Given the description of an element on the screen output the (x, y) to click on. 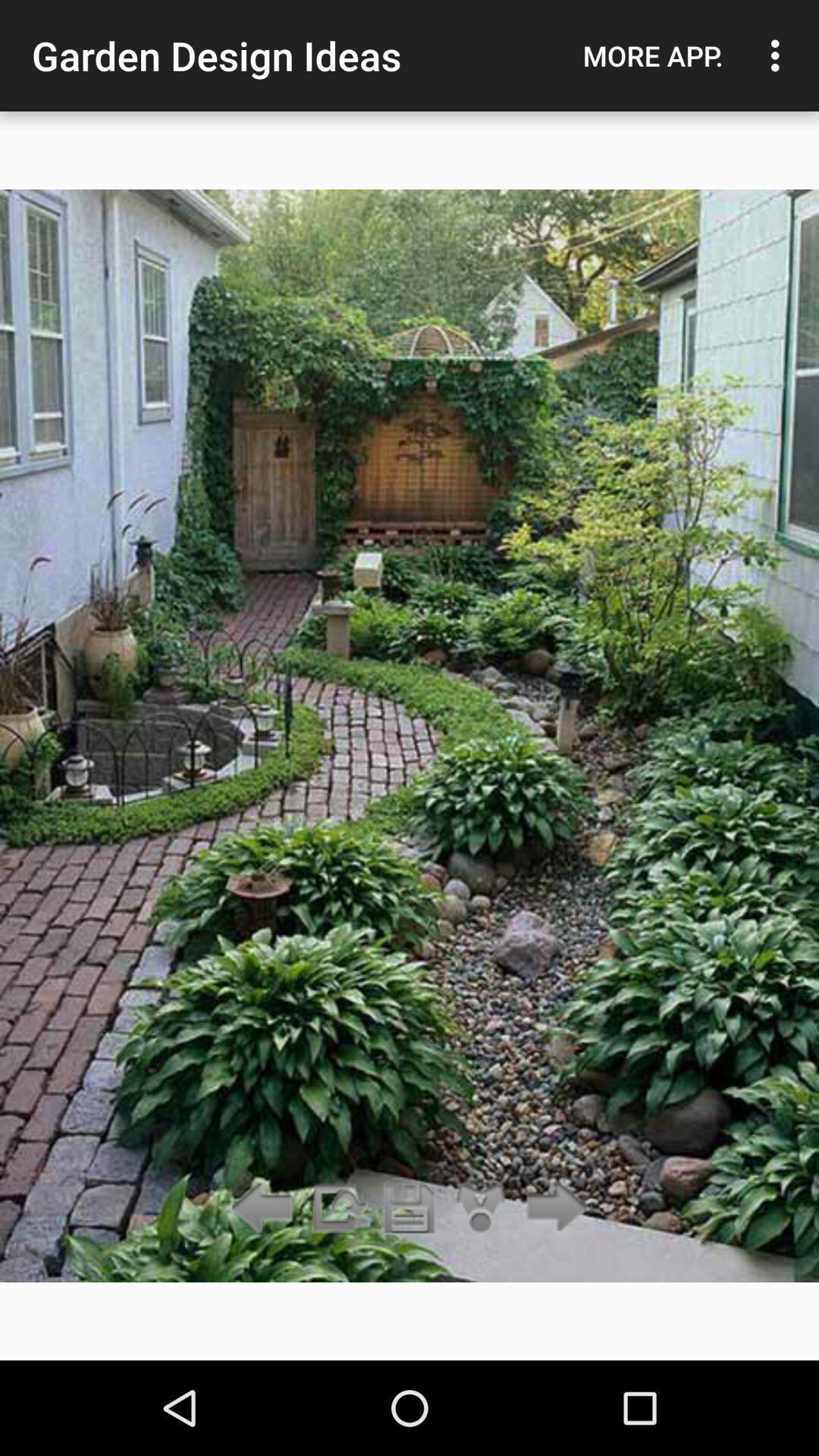
turn on app next to the garden design ideas app (653, 55)
